Given the description of an element on the screen output the (x, y) to click on. 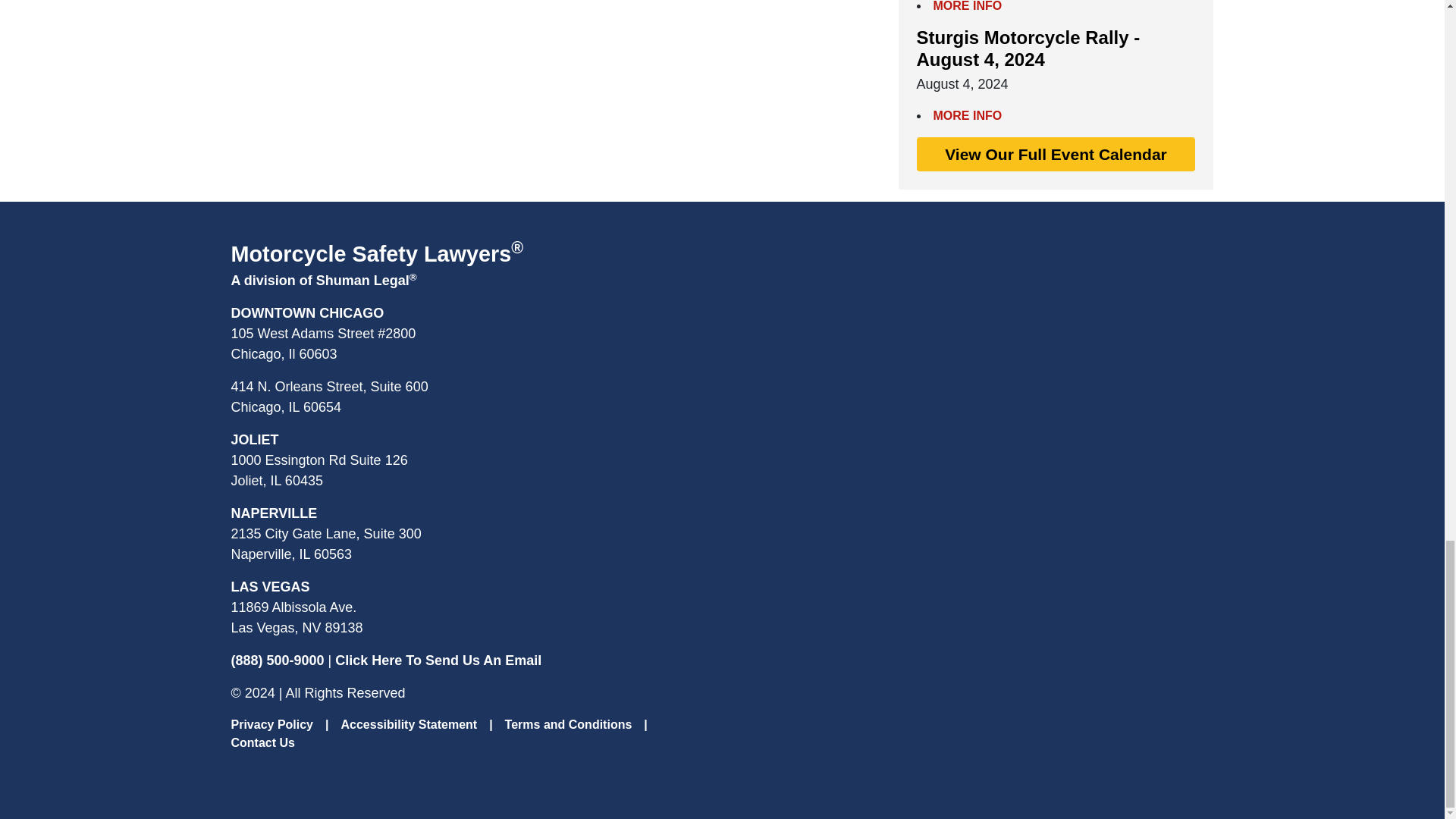
MORE INFO (967, 115)
Contact Us (262, 742)
Accessibility Statement (408, 724)
MORE INFO (967, 6)
Click Here To Send Us An Email (437, 660)
Terms and Conditions (568, 724)
View Our Full Event Calendar (1055, 154)
Privacy Policy (271, 724)
